Given the description of an element on the screen output the (x, y) to click on. 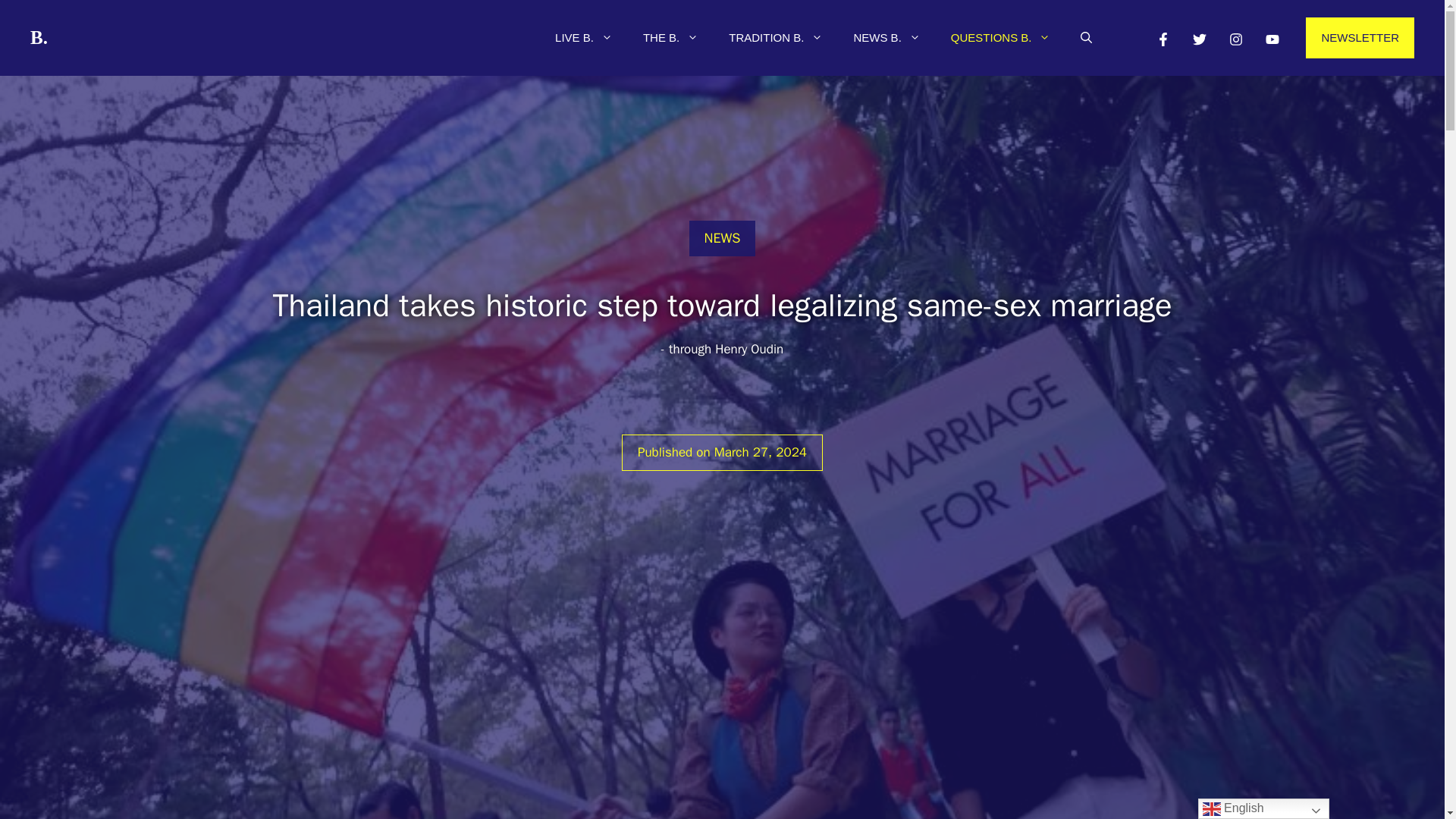
TRADITION B. (775, 37)
NEWS B. (886, 37)
LIVE B. (583, 37)
QUESTIONS B. (1000, 37)
THE B. (670, 37)
